Given the description of an element on the screen output the (x, y) to click on. 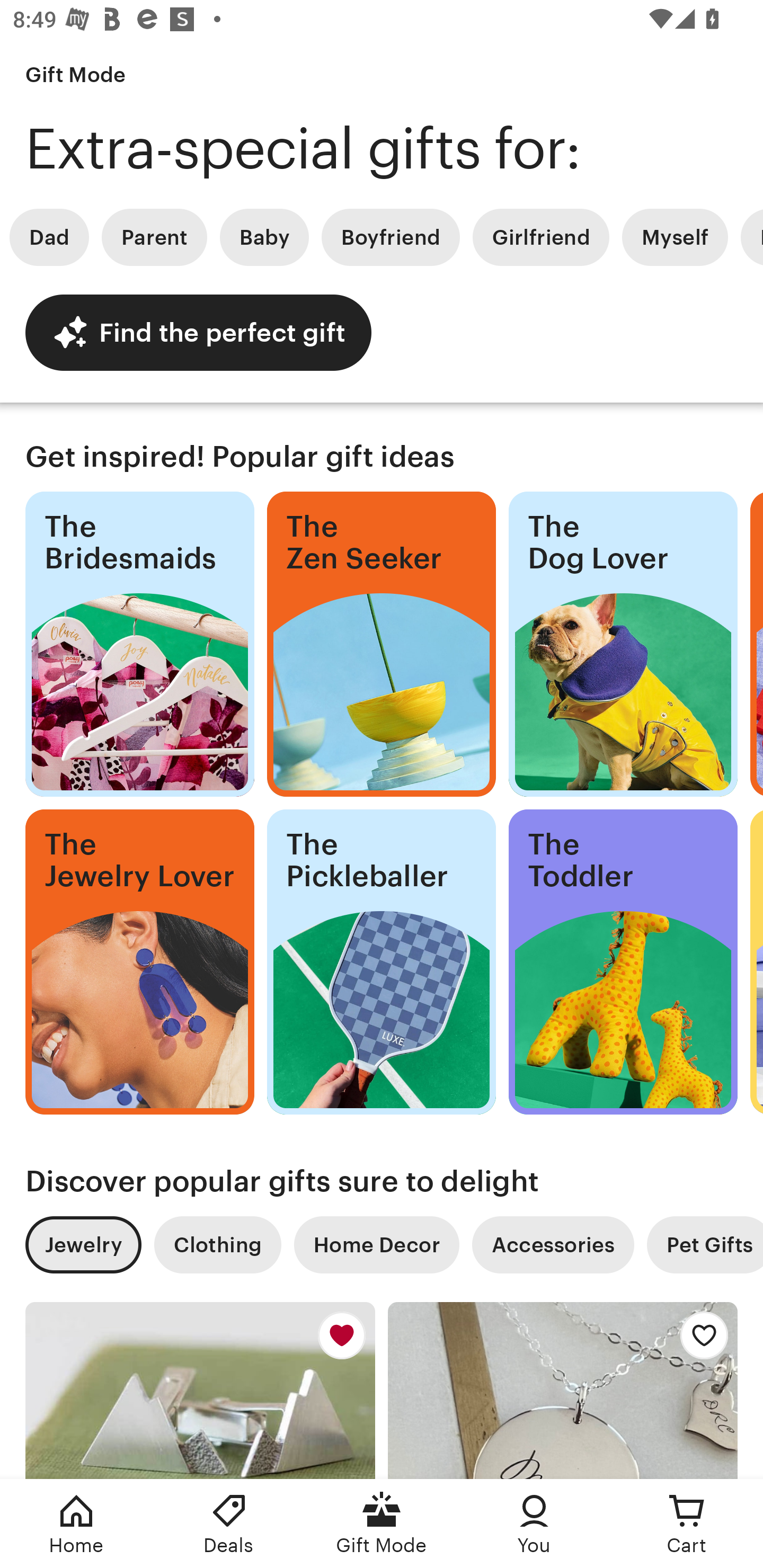
Dad (49, 237)
Parent (154, 237)
Baby (264, 237)
Boyfriend (390, 237)
Girlfriend (540, 237)
Myself (674, 237)
Find the perfect gift (198, 332)
The Bridesmaids (139, 644)
The Zen Seeker (381, 644)
The Dog Lover (622, 644)
The Jewelry Lover (139, 961)
The Pickleballer (381, 961)
The Toddler (622, 961)
Jewelry (83, 1244)
Clothing (217, 1244)
Home Decor (376, 1244)
Accessories (553, 1244)
Pet Gifts (705, 1244)
Home (76, 1523)
Deals (228, 1523)
You (533, 1523)
Cart (686, 1523)
